Given the description of an element on the screen output the (x, y) to click on. 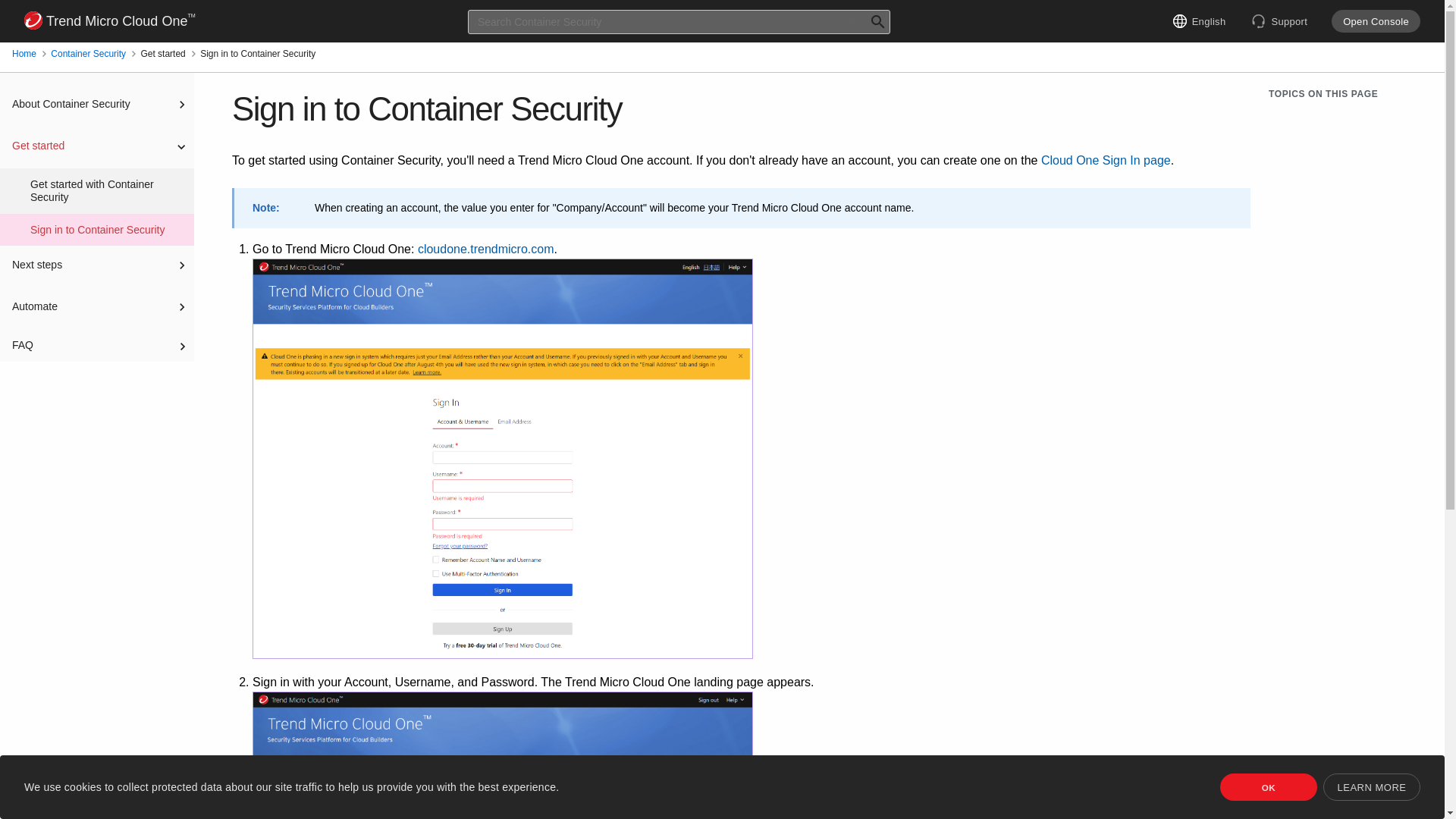
Trend Micro Cloud OneTM (109, 20)
Container Security (87, 54)
Get started with Container Security (96, 190)
OK (1268, 786)
LEARN MORE (1372, 786)
Home (23, 54)
Type search term here (678, 21)
Sign in to Container Security (85, 229)
Open Console (1376, 20)
